Given the description of an element on the screen output the (x, y) to click on. 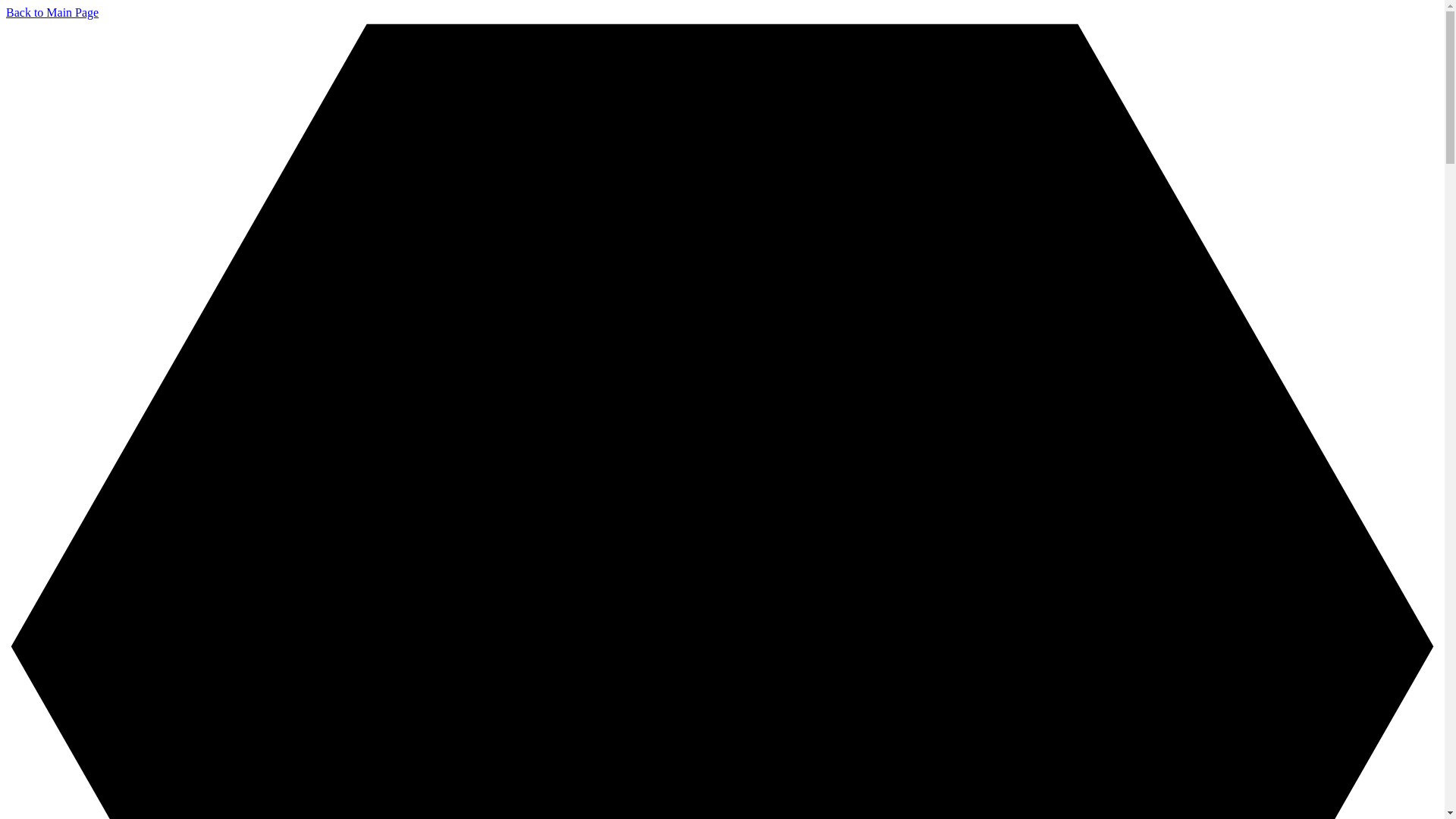
Back to Main Page (52, 11)
